Given the description of an element on the screen output the (x, y) to click on. 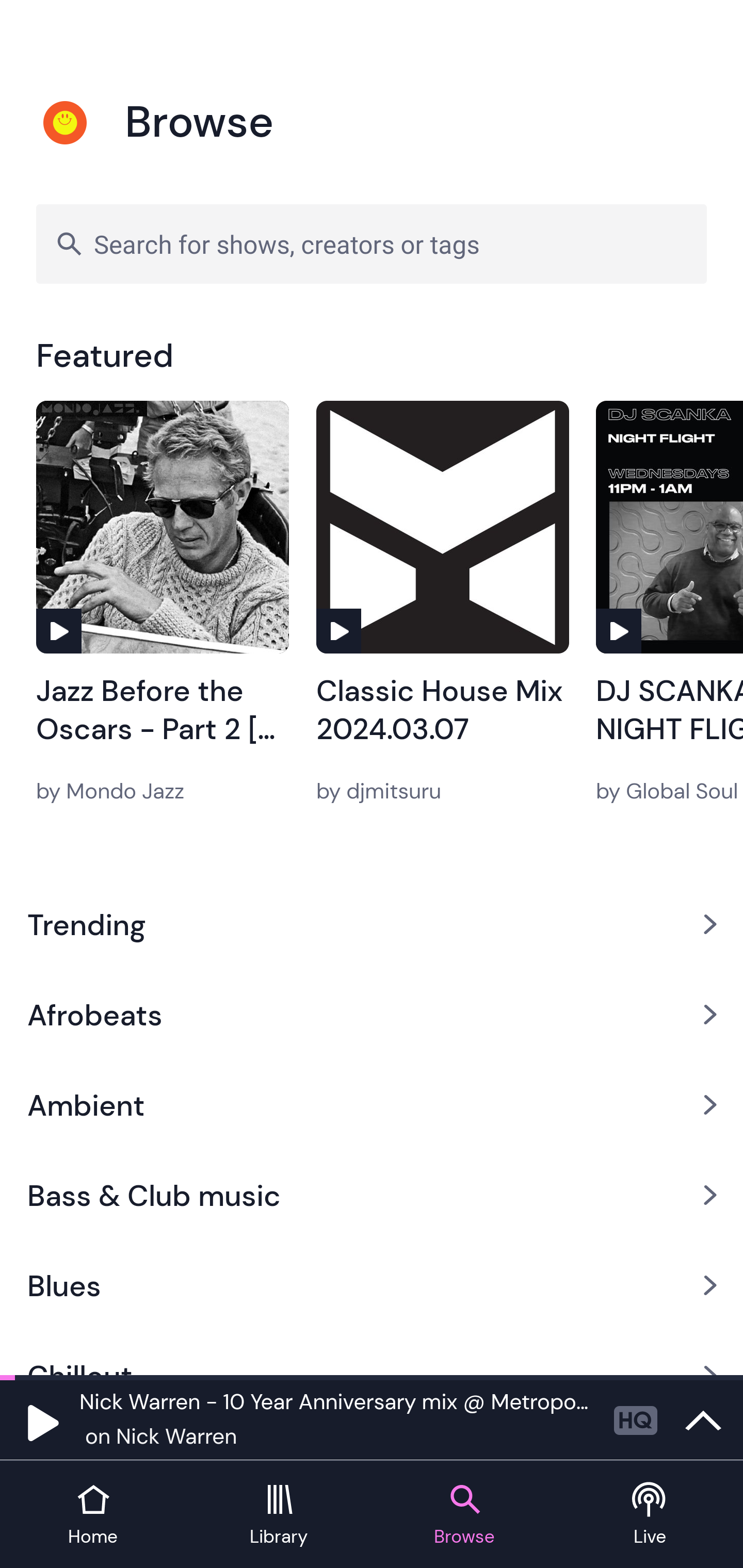
Search for shows, creators or tags (371, 243)
Trending (371, 924)
Afrobeats (371, 1014)
Ambient (371, 1104)
Bass & Club music (371, 1195)
Blues (371, 1285)
Chillout (371, 1353)
Home tab Home (92, 1515)
Library tab Library (278, 1515)
Browse tab Browse (464, 1515)
Live tab Live (650, 1515)
